Given the description of an element on the screen output the (x, y) to click on. 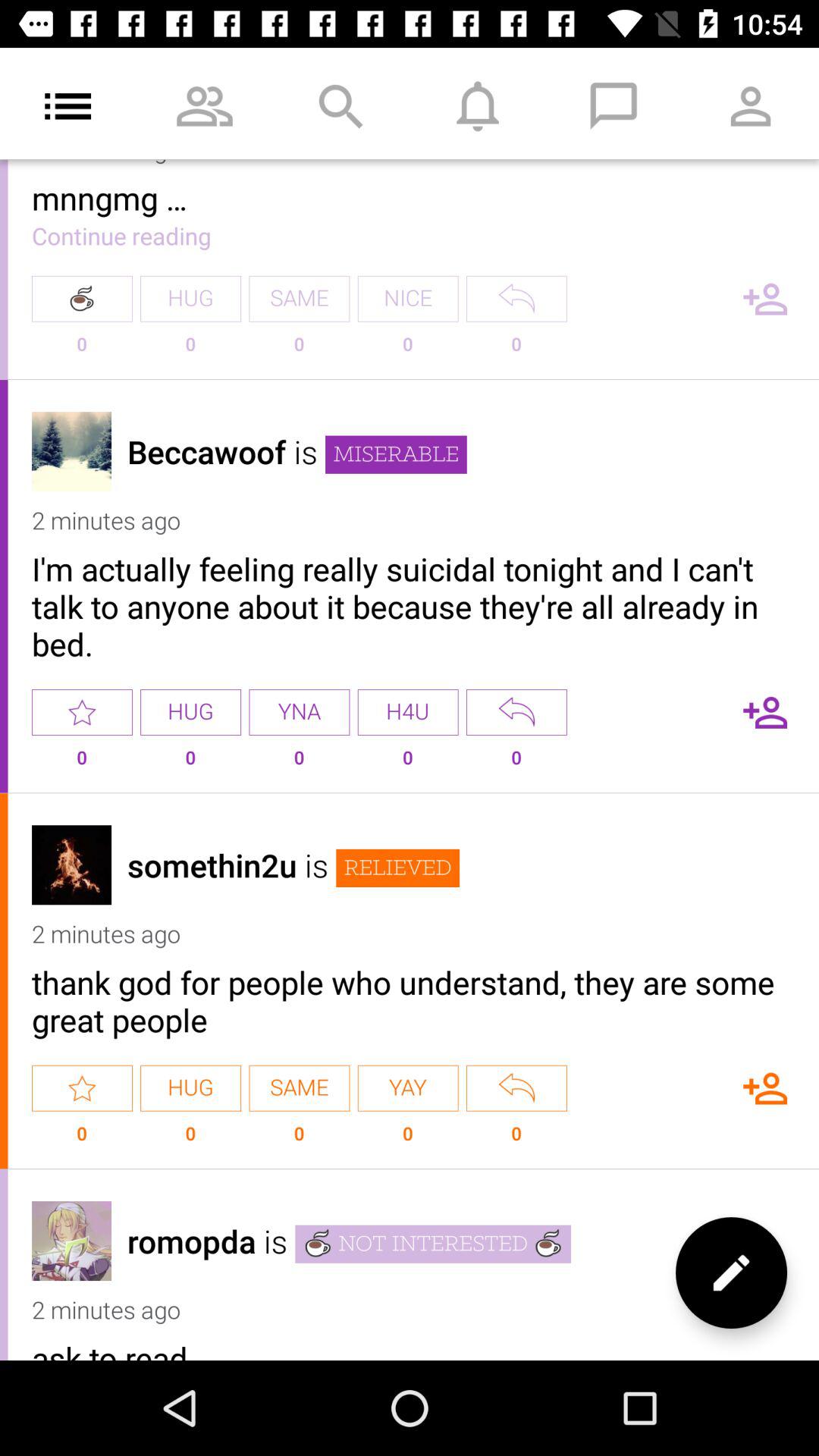
profile avatar (71, 451)
